Given the description of an element on the screen output the (x, y) to click on. 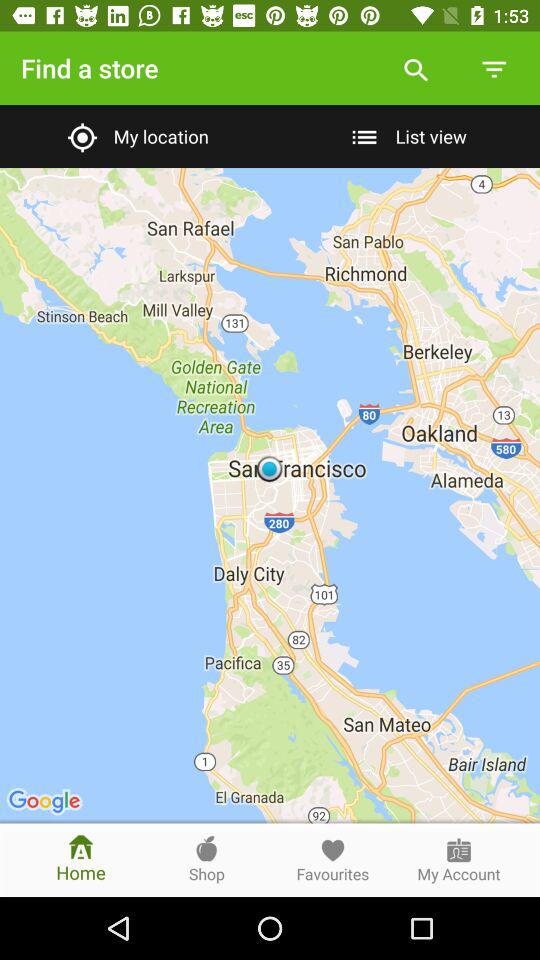
press the item to the right of my location item (404, 136)
